Given the description of an element on the screen output the (x, y) to click on. 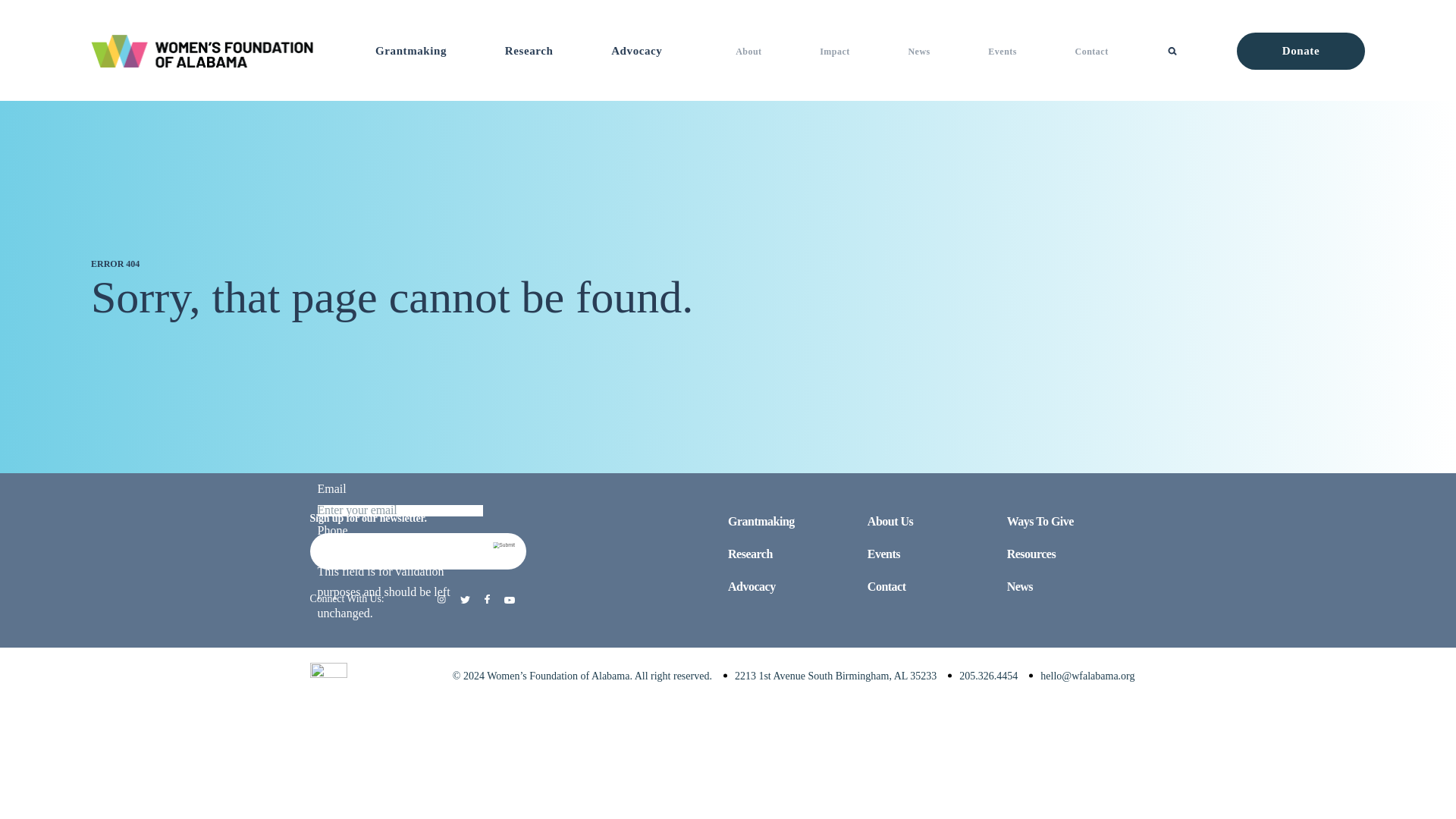
Research (529, 50)
Contact (1091, 50)
Events (1002, 50)
Grantmaking (410, 50)
Impact (834, 50)
Advocacy (636, 50)
News (918, 50)
About (748, 50)
